Given the description of an element on the screen output the (x, y) to click on. 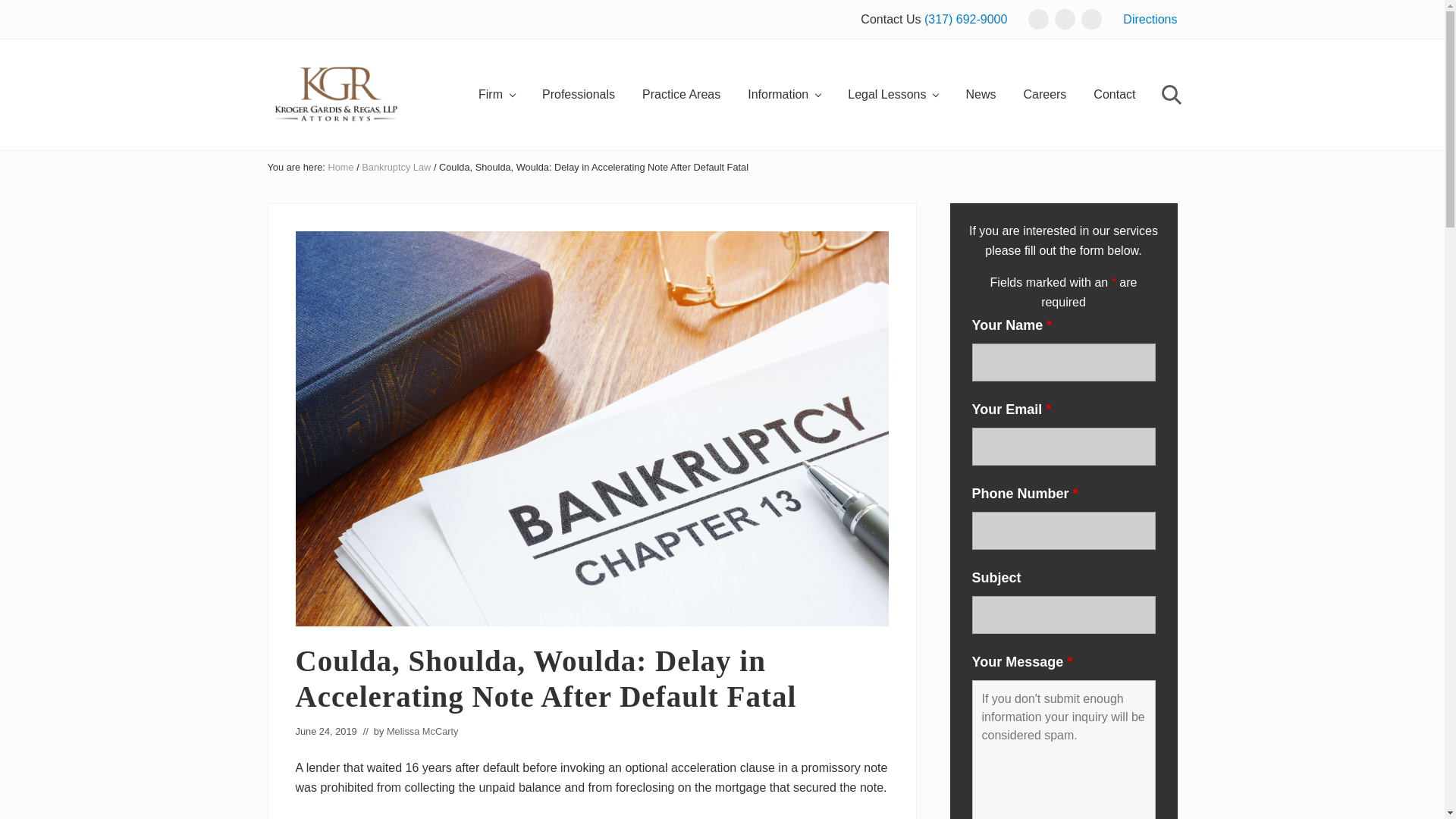
Search (1169, 95)
Twitter (1064, 19)
Firm (496, 95)
Careers (1044, 95)
Twitter (1064, 19)
News (980, 95)
Directions (1149, 19)
LinkedIn (1091, 19)
Facebook (1037, 19)
